Given the description of an element on the screen output the (x, y) to click on. 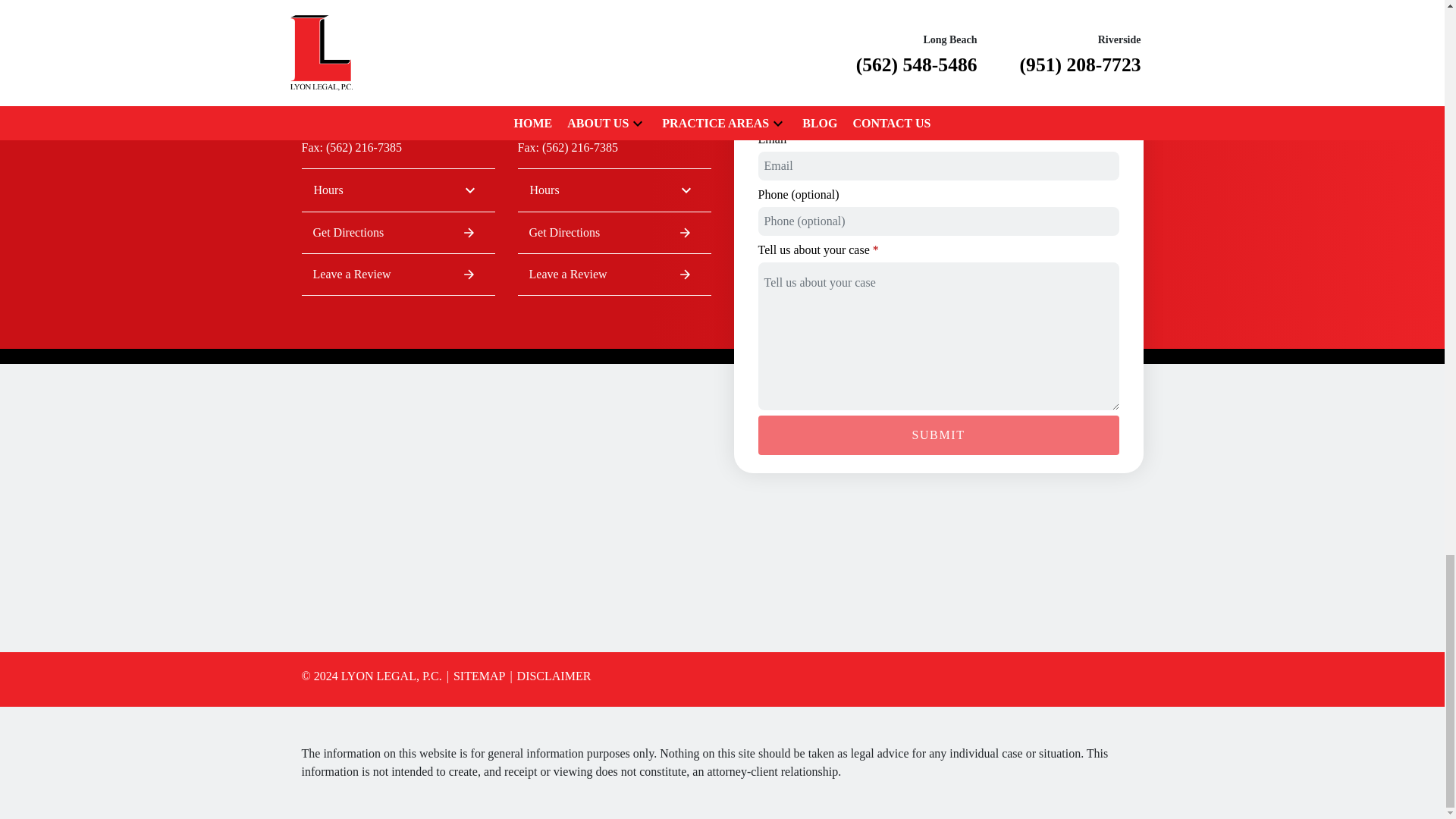
DISCLAIMER (549, 675)
Get Directions (398, 232)
address-link google-location (398, 66)
SUBMIT (613, 66)
SITEMAP (938, 435)
Hours (475, 675)
Leave a Review (613, 189)
Get Directions (613, 273)
Hours (613, 232)
Leave a Review (398, 189)
address-link google-location (398, 273)
